Given the description of an element on the screen output the (x, y) to click on. 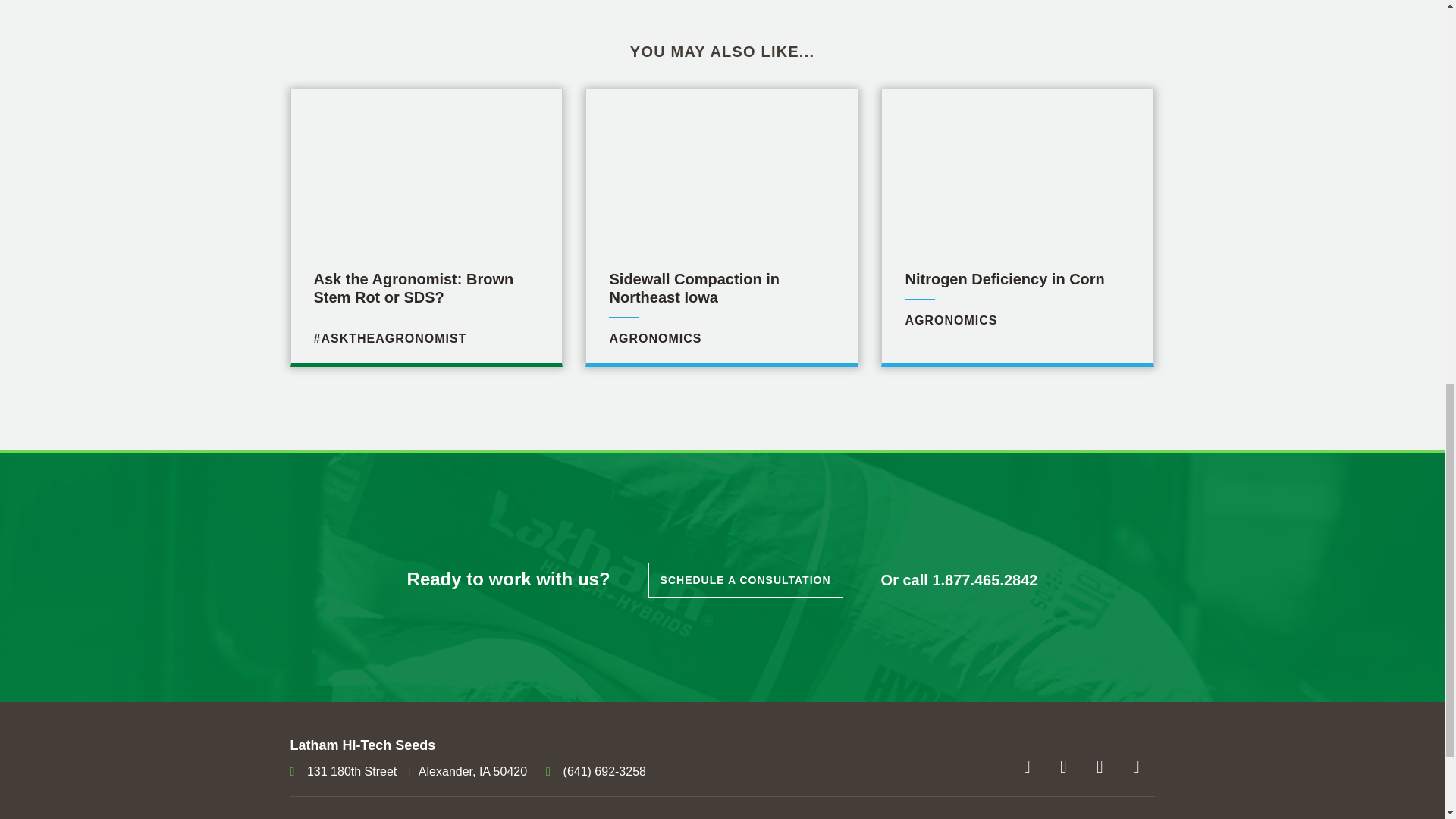
Facebook (1027, 766)
Instagram (1008, 300)
RSS (1099, 766)
Find us on Facebook (1136, 766)
Find us on Instagram (1027, 766)
Find us on Twitter (1099, 766)
Twitter (1063, 766)
SCHEDULE A CONSULTATION (721, 300)
Subscribe with RSS (1063, 766)
